Given the description of an element on the screen output the (x, y) to click on. 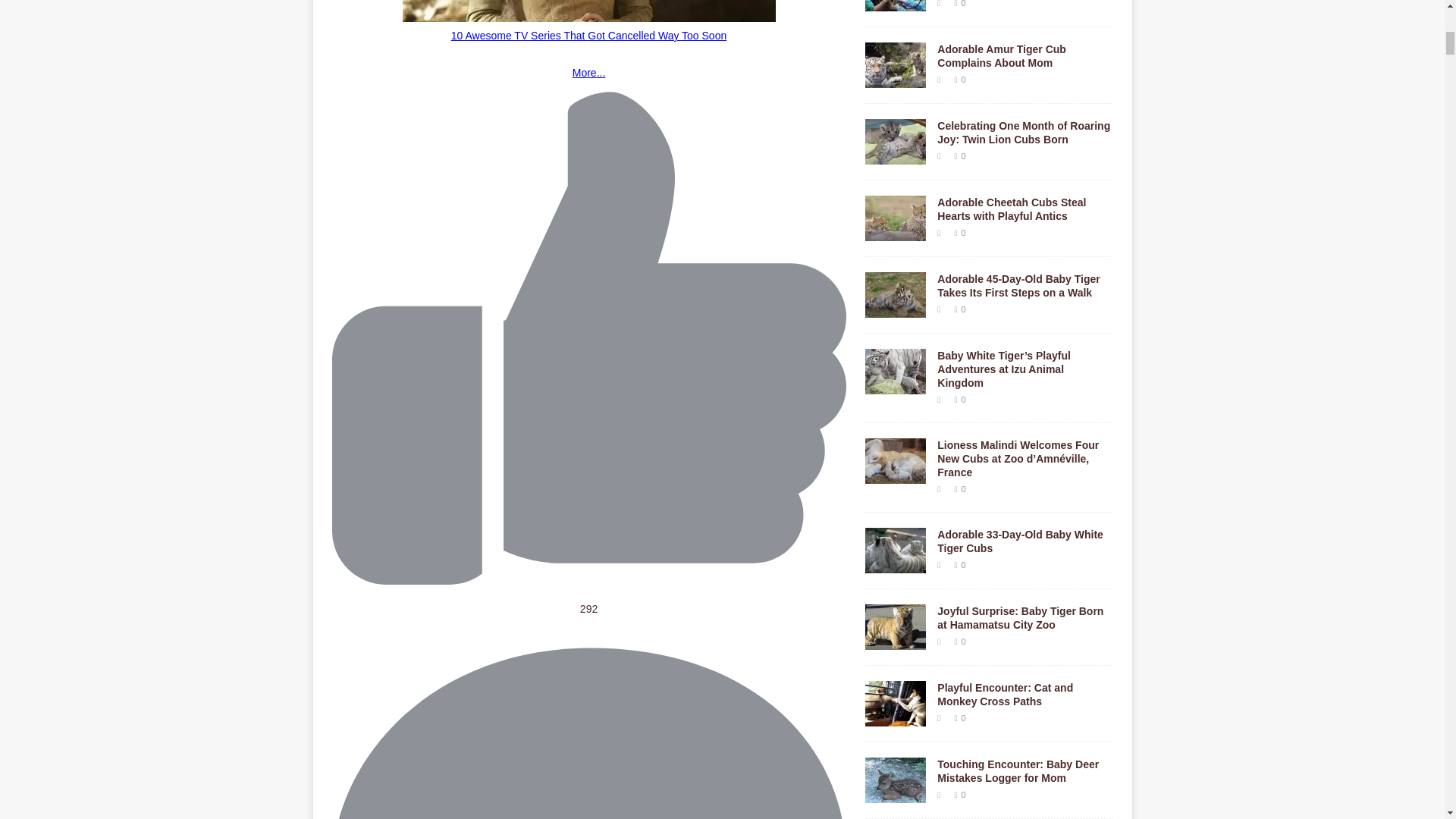
Adorable Amur Tiger Cub Complains About Mom (1001, 55)
0 (962, 79)
Adorable Amur Tiger Cub Complains About Mom (1001, 55)
Adorable Cheetah Cubs Steal Hearts with Playful Antics (1011, 208)
Adorable Amur Tiger Cub Complains About Mom (895, 78)
Meet Korean Tiger Siblings Taebeom and Mugung! (895, 4)
Celebrating One Month of Roaring Joy: Twin Lion Cubs Born (1023, 132)
Adorable Cheetah Cubs Steal Hearts with Playful Antics (895, 232)
0 (962, 155)
Celebrating One Month of Roaring Joy: Twin Lion Cubs Born (895, 155)
Celebrating One Month of Roaring Joy: Twin Lion Cubs Born (1023, 132)
